Given the description of an element on the screen output the (x, y) to click on. 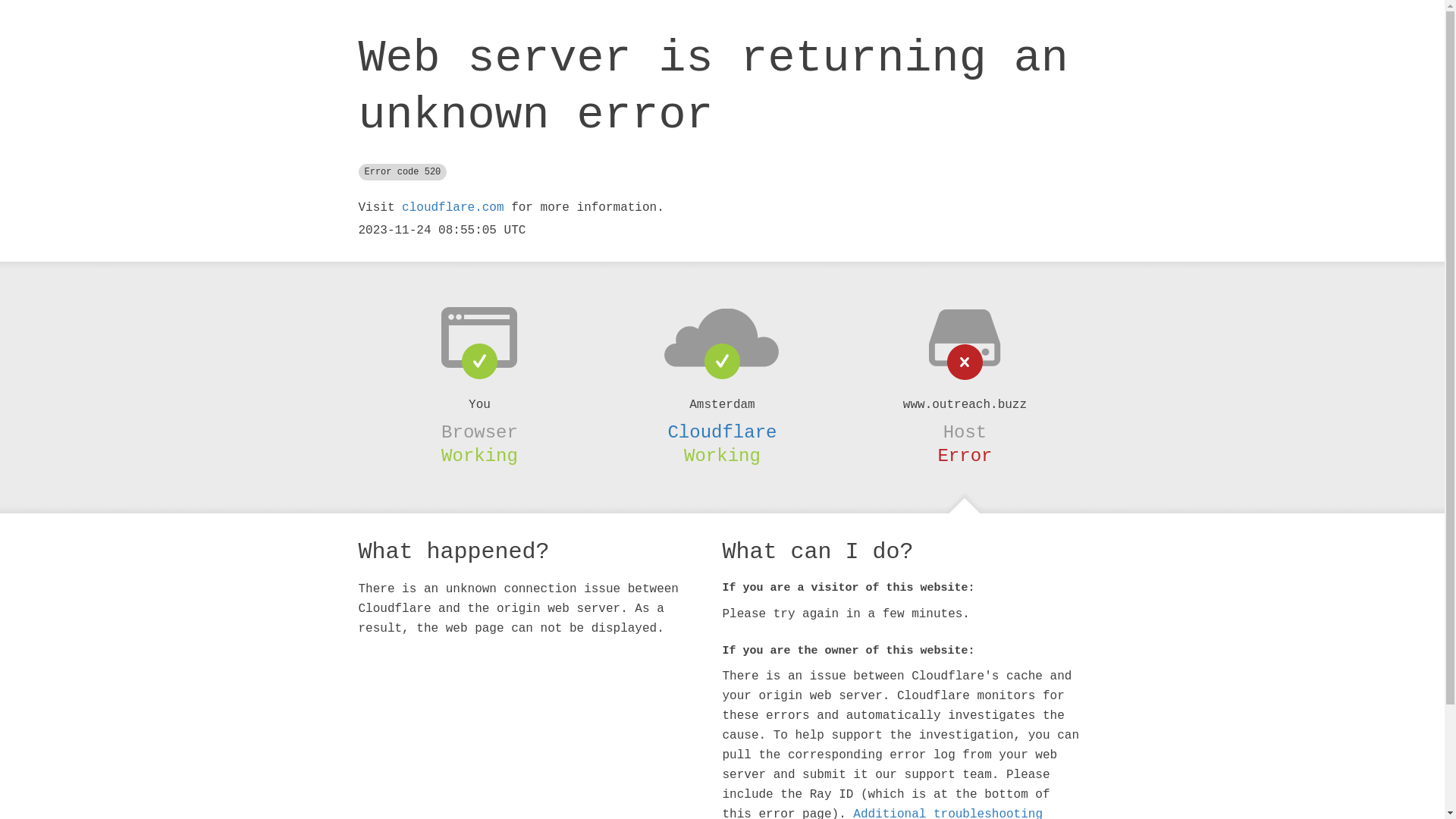
Cloudflare Element type: text (721, 432)
cloudflare.com Element type: text (452, 207)
